Given the description of an element on the screen output the (x, y) to click on. 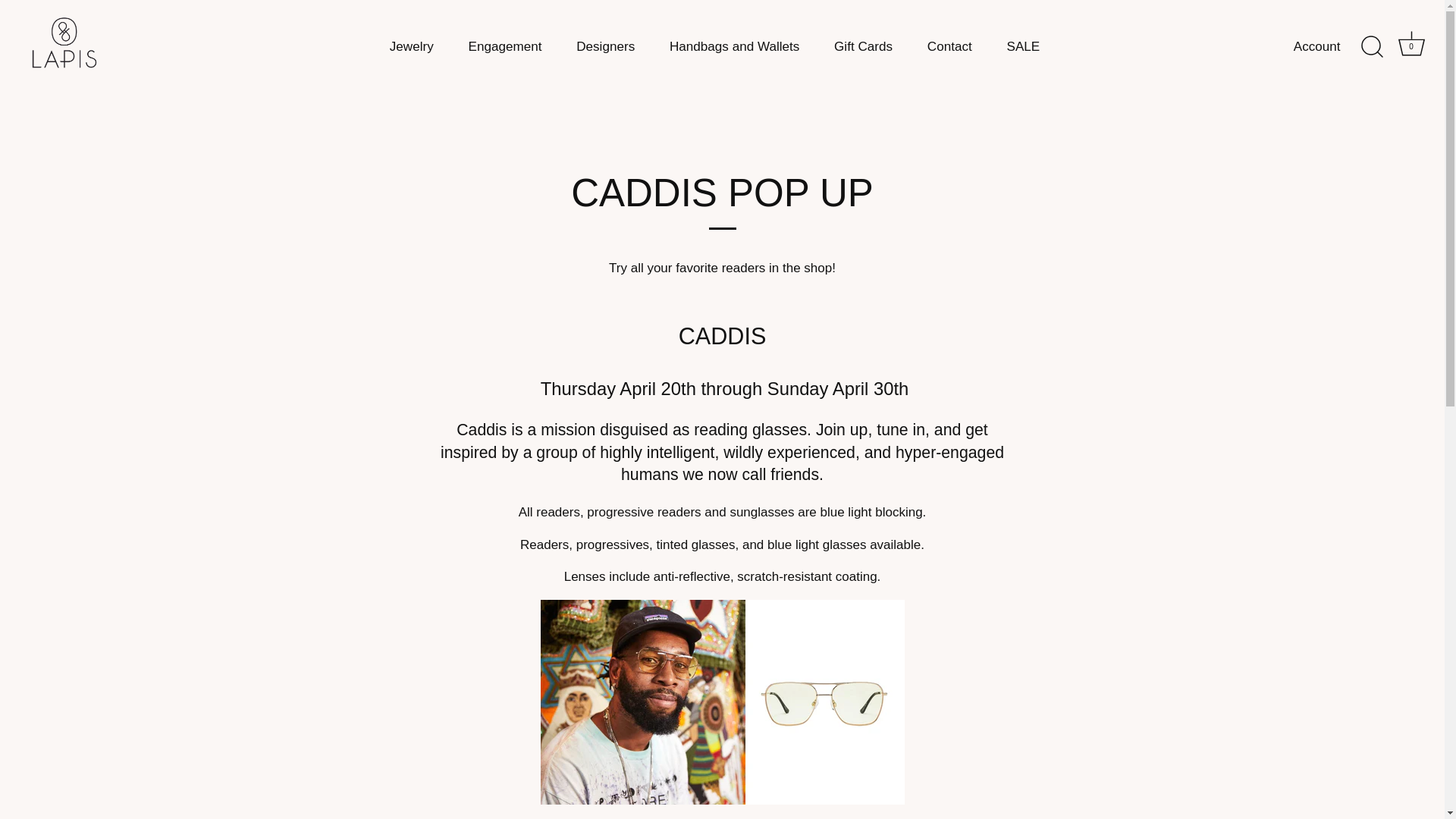
Jewelry (411, 46)
Cart (1411, 43)
